Given the description of an element on the screen output the (x, y) to click on. 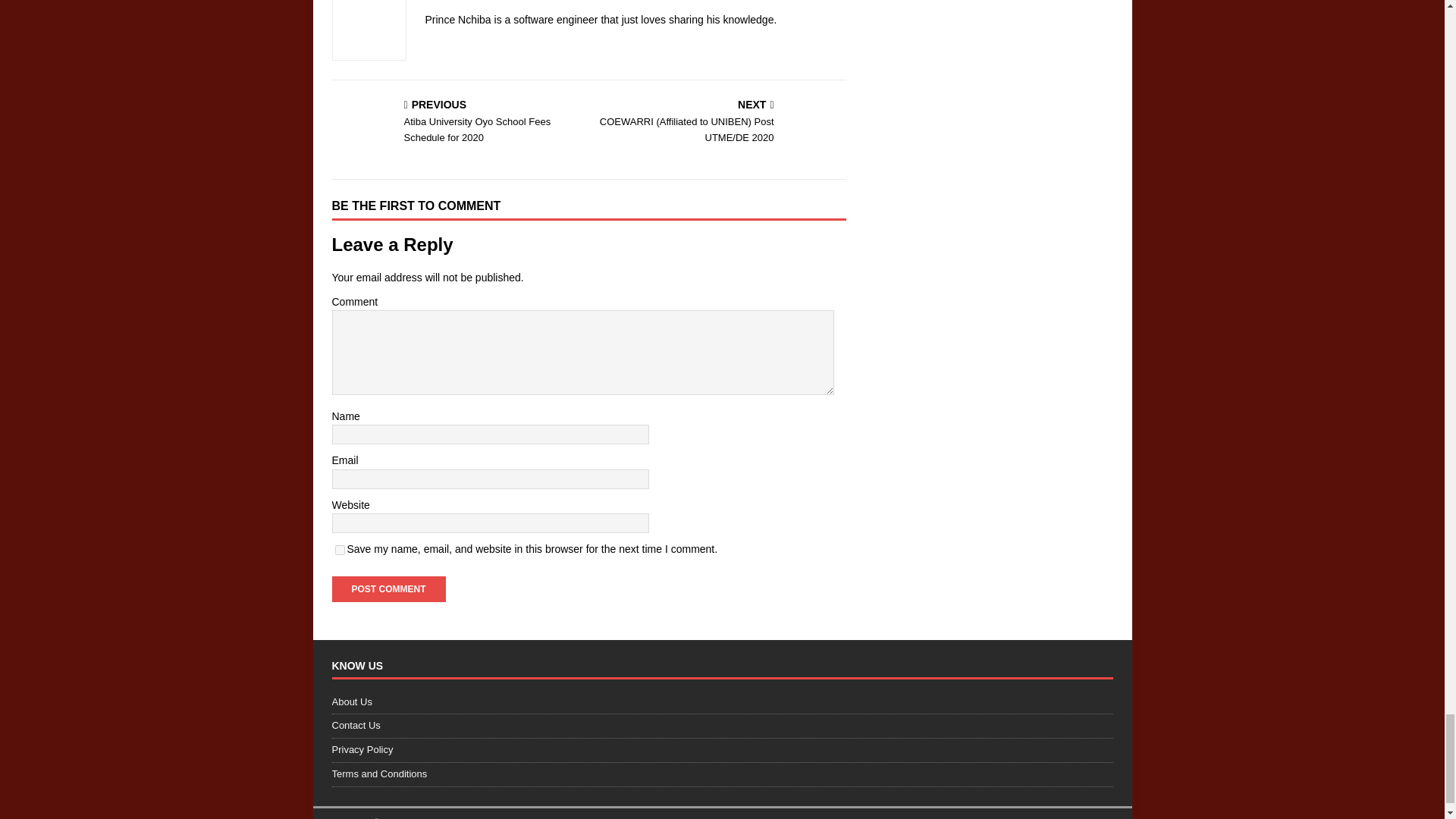
yes (339, 550)
More articles written by Prince Nchiba' (589, 0)
Post Comment (388, 588)
